Given the description of an element on the screen output the (x, y) to click on. 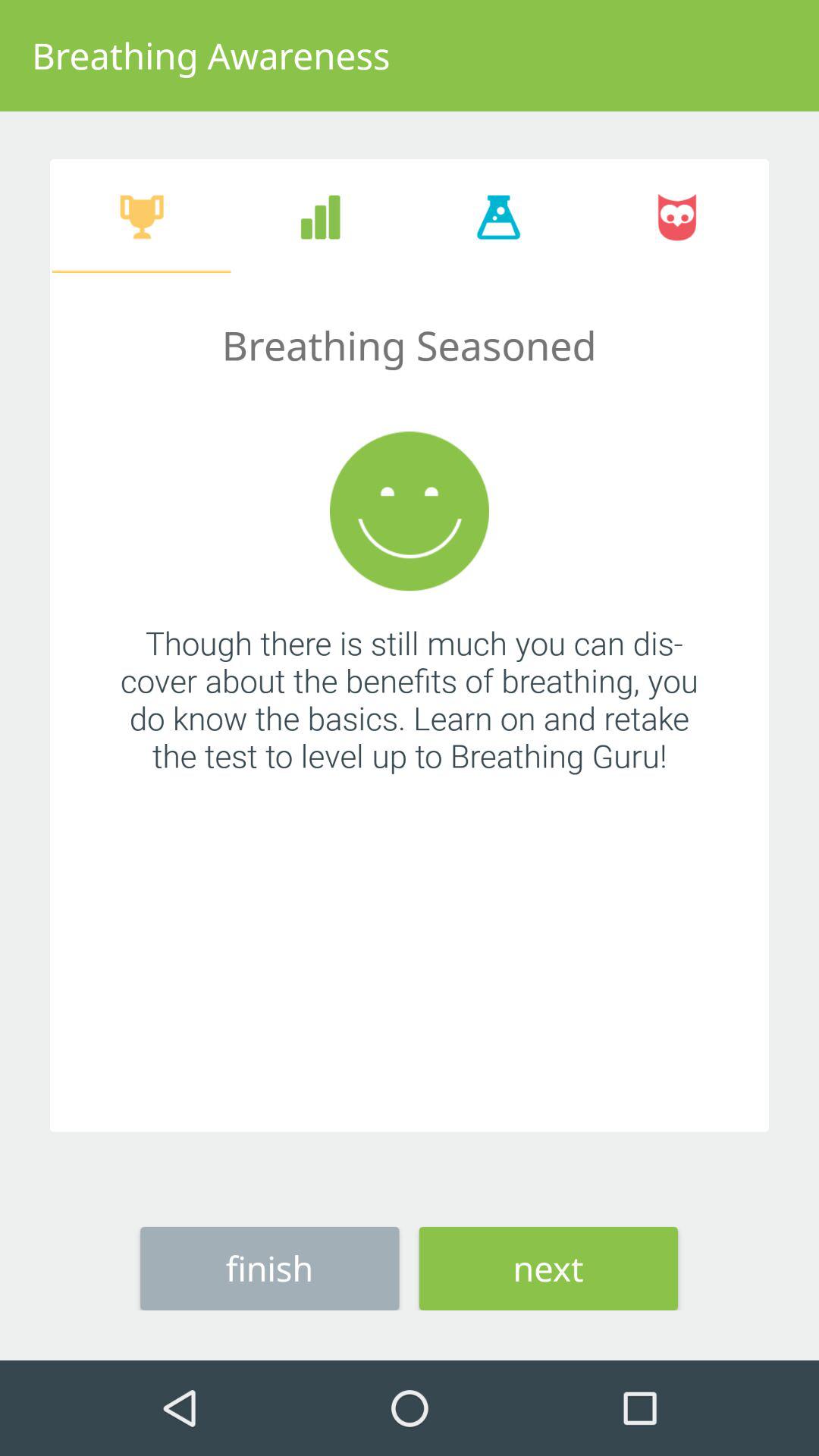
click finish item (269, 1268)
